Given the description of an element on the screen output the (x, y) to click on. 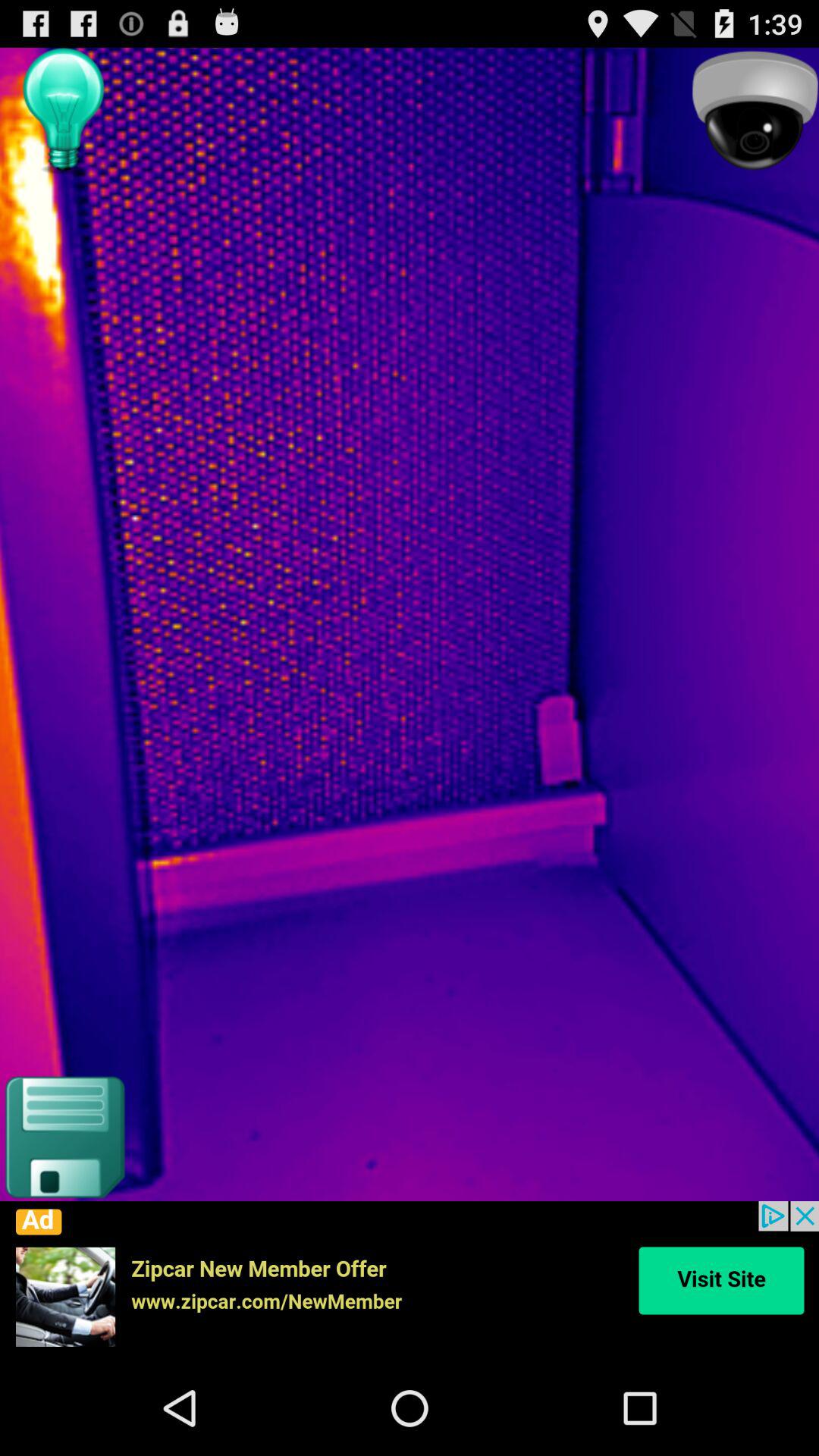
go to add (409, 1280)
